Given the description of an element on the screen output the (x, y) to click on. 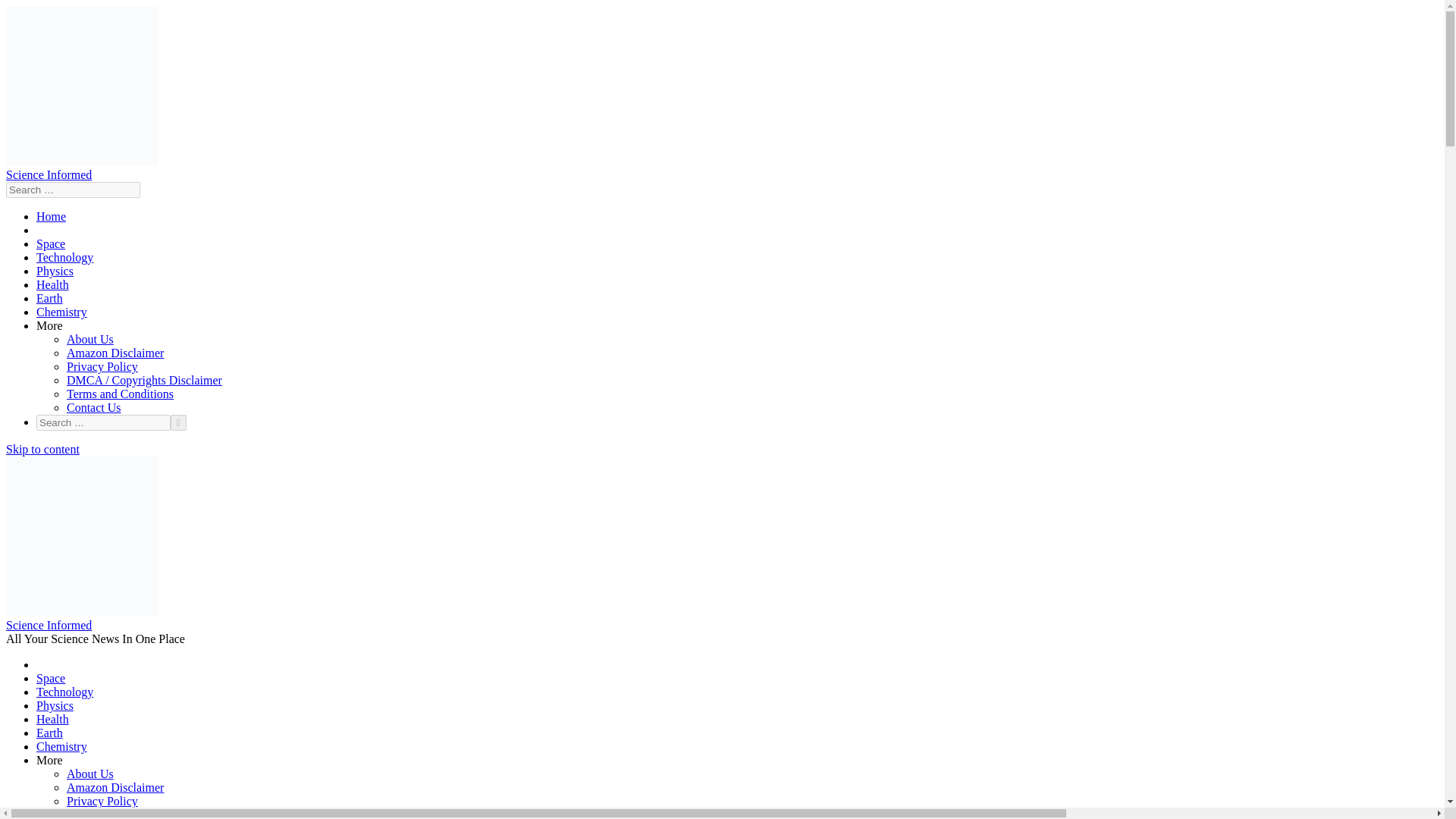
More (49, 325)
Earth (49, 297)
Health (52, 284)
Amazon Disclaimer (114, 787)
Earth (49, 732)
Contact Us (93, 407)
More (49, 759)
Health (52, 718)
Science Informed (48, 174)
Science Informed (48, 625)
